Given the description of an element on the screen output the (x, y) to click on. 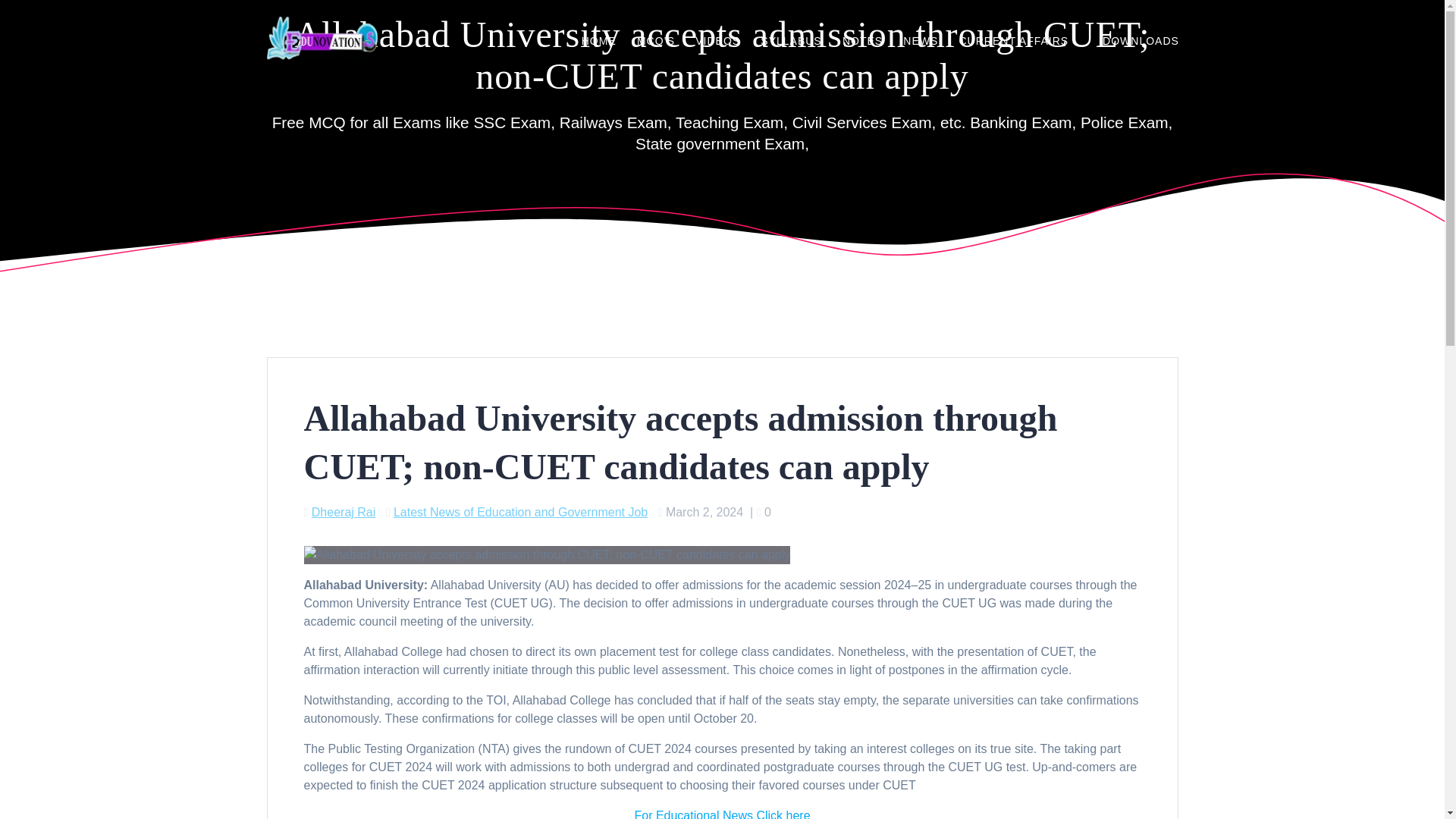
NOTES (862, 41)
CURRENT AFFAIRS (1019, 41)
Dheeraj Rai (343, 512)
Latest News of Education and Government Job (520, 512)
Posts by Dheeraj Rai (343, 512)
VIDEOS (717, 41)
SYLLABUS (790, 41)
For Educational News Click here (721, 814)
NEWS (919, 41)
HOME (597, 41)
